Given the description of an element on the screen output the (x, y) to click on. 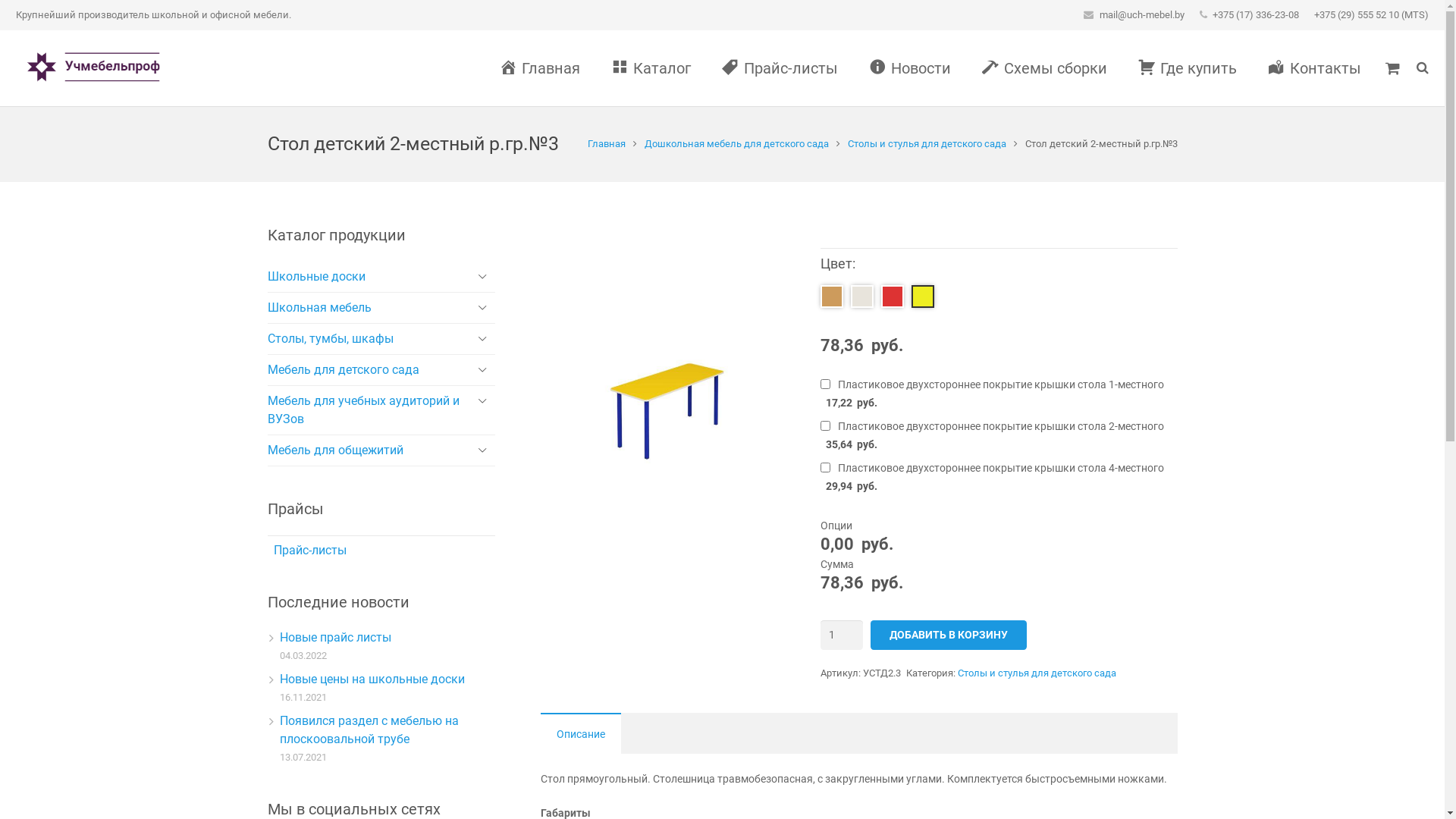
mail@uch-mebel.by Element type: text (1141, 14)
